Given the description of an element on the screen output the (x, y) to click on. 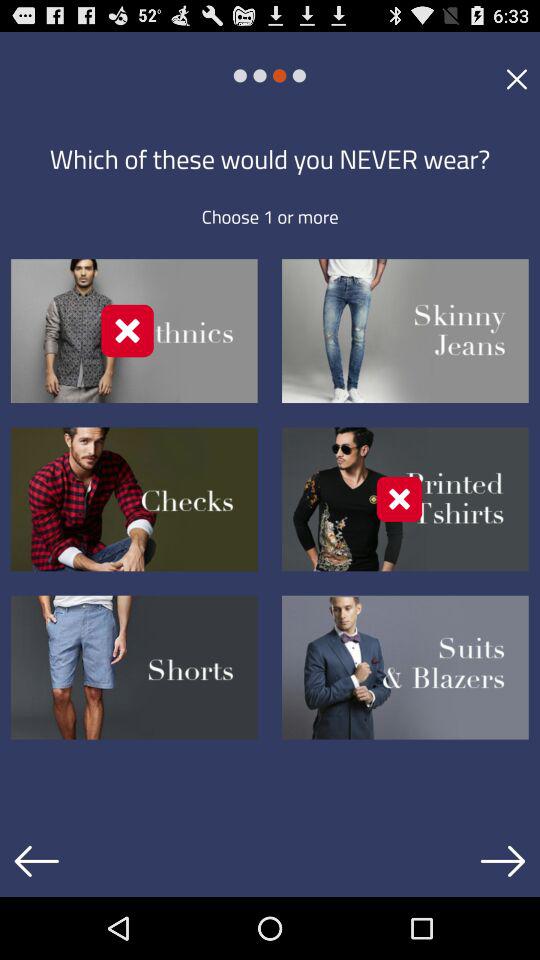
select item above the which of these item (516, 78)
